Given the description of an element on the screen output the (x, y) to click on. 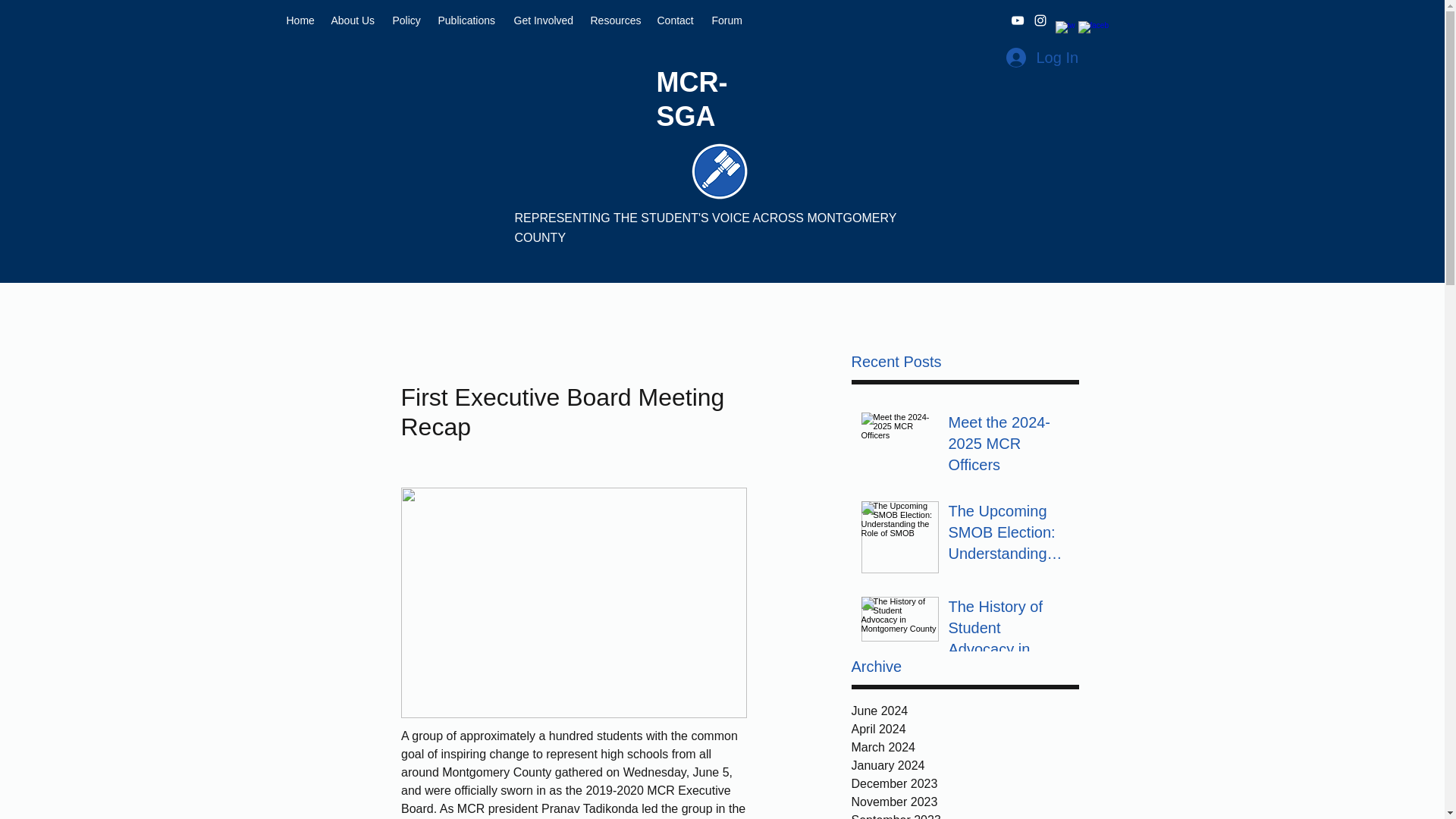
April 2024 (964, 729)
The History of Student Advocacy in Montgomery County (1007, 630)
Meet the 2024-2025 MCR Officers (1007, 446)
Log In (1040, 57)
June 2024 (964, 710)
January 2024 (964, 765)
About Us (353, 20)
The Upcoming SMOB Election: Understanding the Role of SMOB (1007, 535)
September 2023 (964, 815)
Get Involved (544, 20)
Publications (468, 20)
Forum (727, 20)
November 2023 (964, 802)
Resources (615, 20)
Home (301, 20)
